Given the description of an element on the screen output the (x, y) to click on. 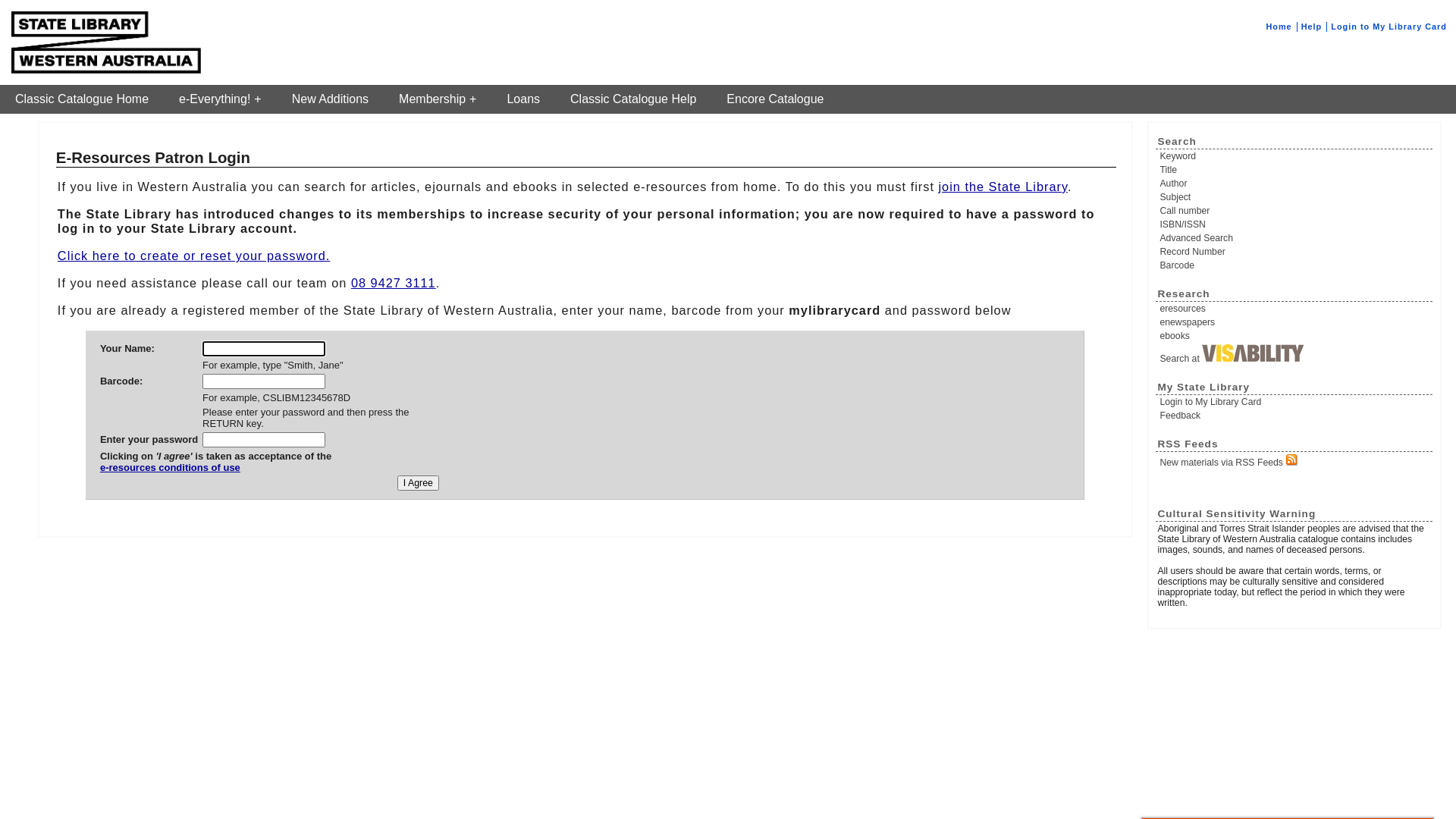
New Additions Element type: text (329, 98)
Help Element type: text (1311, 26)
Subject Element type: text (1294, 196)
Classic Catalogue Home Element type: text (81, 98)
enewspapers Element type: text (1294, 321)
Barcode Element type: text (1294, 265)
e-Everything! Element type: text (219, 98)
Record Number Element type: text (1294, 251)
eresources Element type: text (1294, 308)
Encore Catalogue Element type: text (774, 98)
I Agree Element type: text (418, 482)
Click here to create or reset your password. Element type: text (193, 255)
Membership Element type: text (437, 98)
08 9427 3111 Element type: text (393, 282)
Classic Catalogue Help Element type: text (633, 98)
Advanced Search Element type: text (1294, 237)
join the State Library Element type: text (1002, 186)
e-resources conditions of use Element type: text (215, 472)
ebooks Element type: text (1294, 335)
Search at Element type: text (1294, 354)
Home Element type: text (1278, 26)
Feedback Element type: text (1294, 415)
Login to My Library Card Element type: text (1388, 26)
Login to My Library Card Element type: text (1294, 401)
Title Element type: text (1294, 169)
Keyword Element type: text (1294, 155)
ISBN/ISSN Element type: text (1294, 224)
Author Element type: text (1294, 183)
Loans Element type: text (523, 98)
New materials via RSS Feeds Element type: text (1294, 460)
Call number Element type: text (1294, 210)
